Given the description of an element on the screen output the (x, y) to click on. 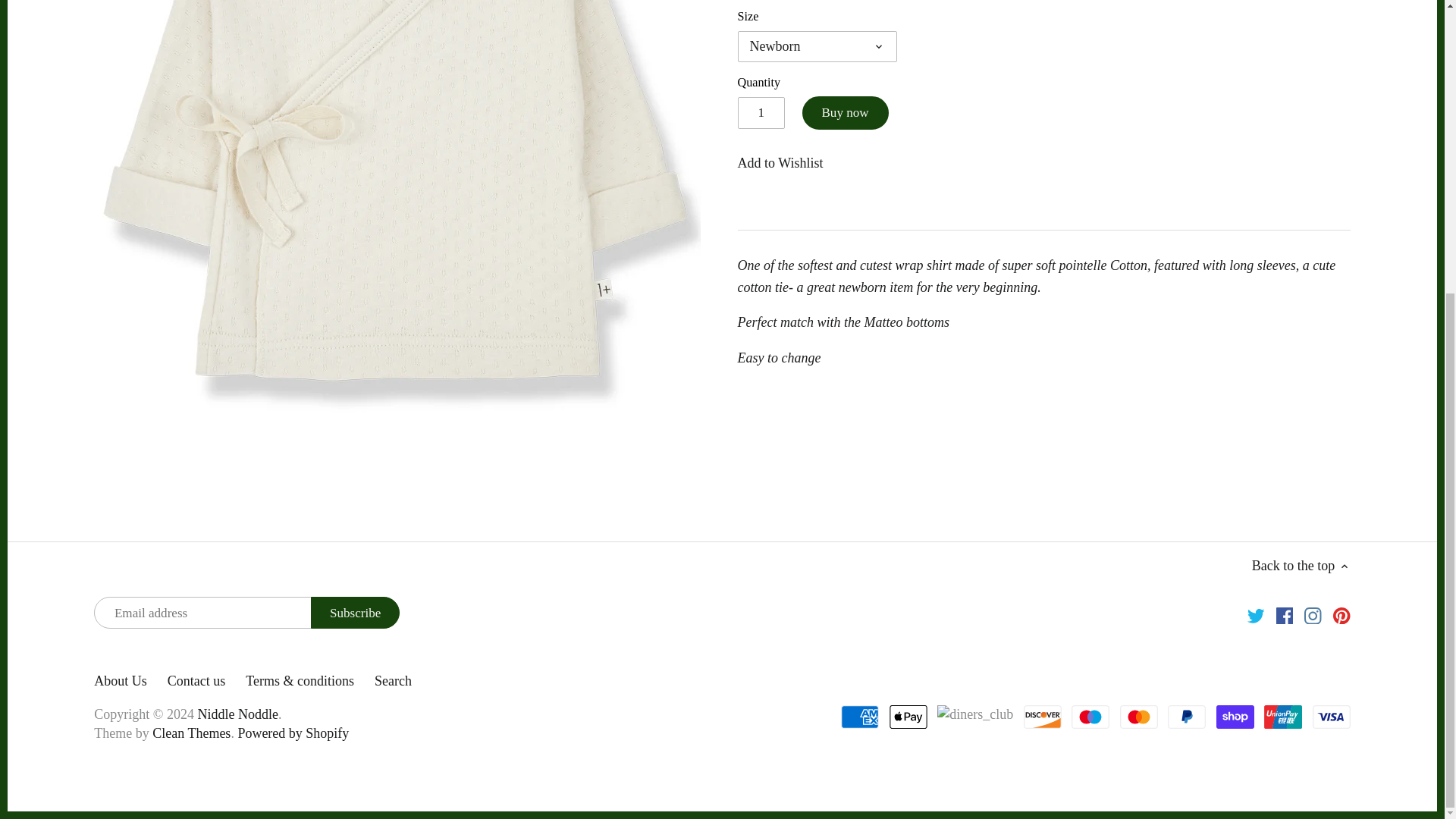
Pinterest (1342, 614)
Facebook (1285, 614)
Instagram (1313, 614)
Subscribe (354, 612)
Twitter (1256, 614)
1 (760, 112)
